Given the description of an element on the screen output the (x, y) to click on. 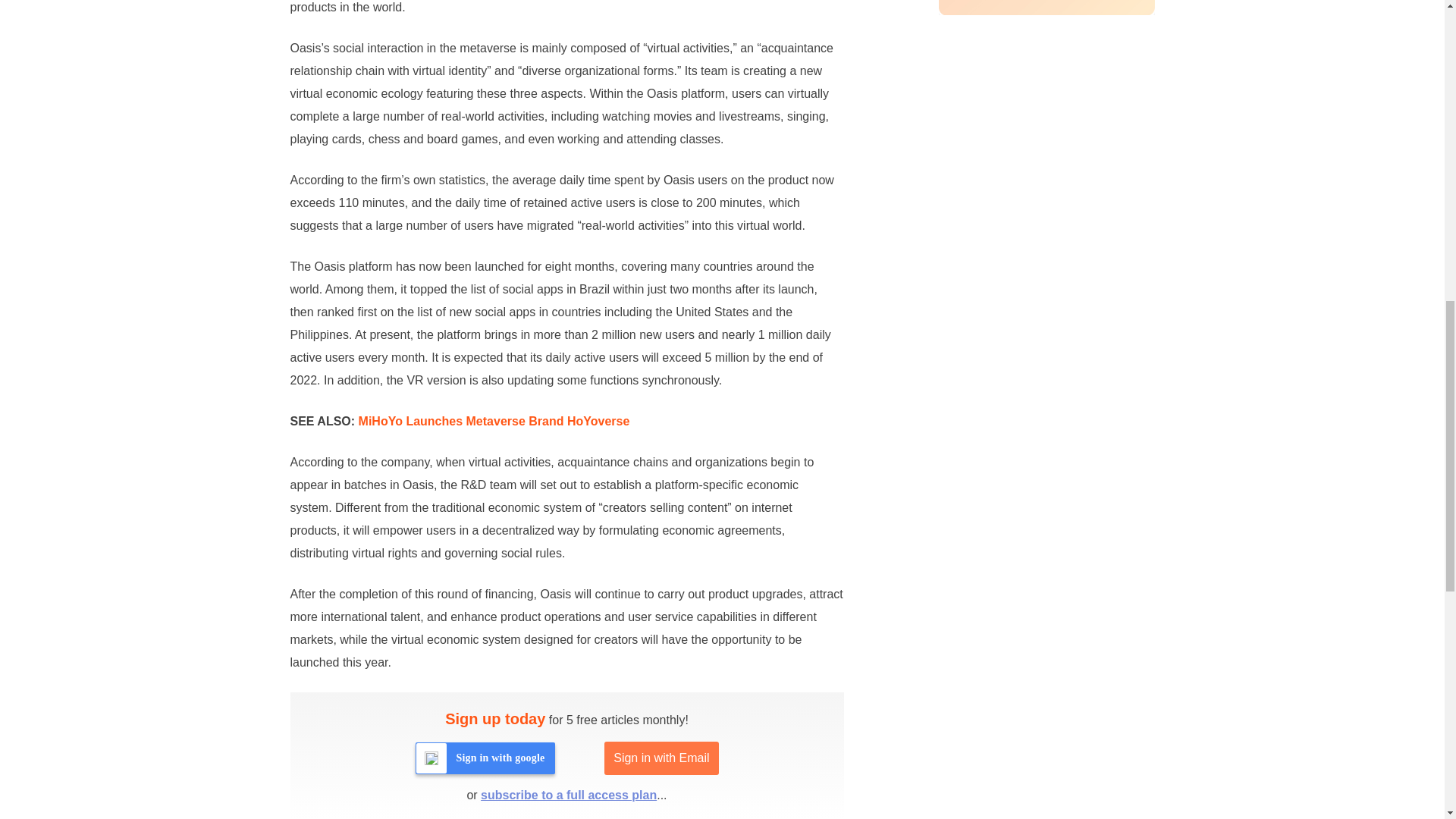
MiHoYo Launches Metaverse Brand HoYoverse (494, 420)
Sign in with Email (660, 758)
subscribe to a full access plan (568, 794)
